Given the description of an element on the screen output the (x, y) to click on. 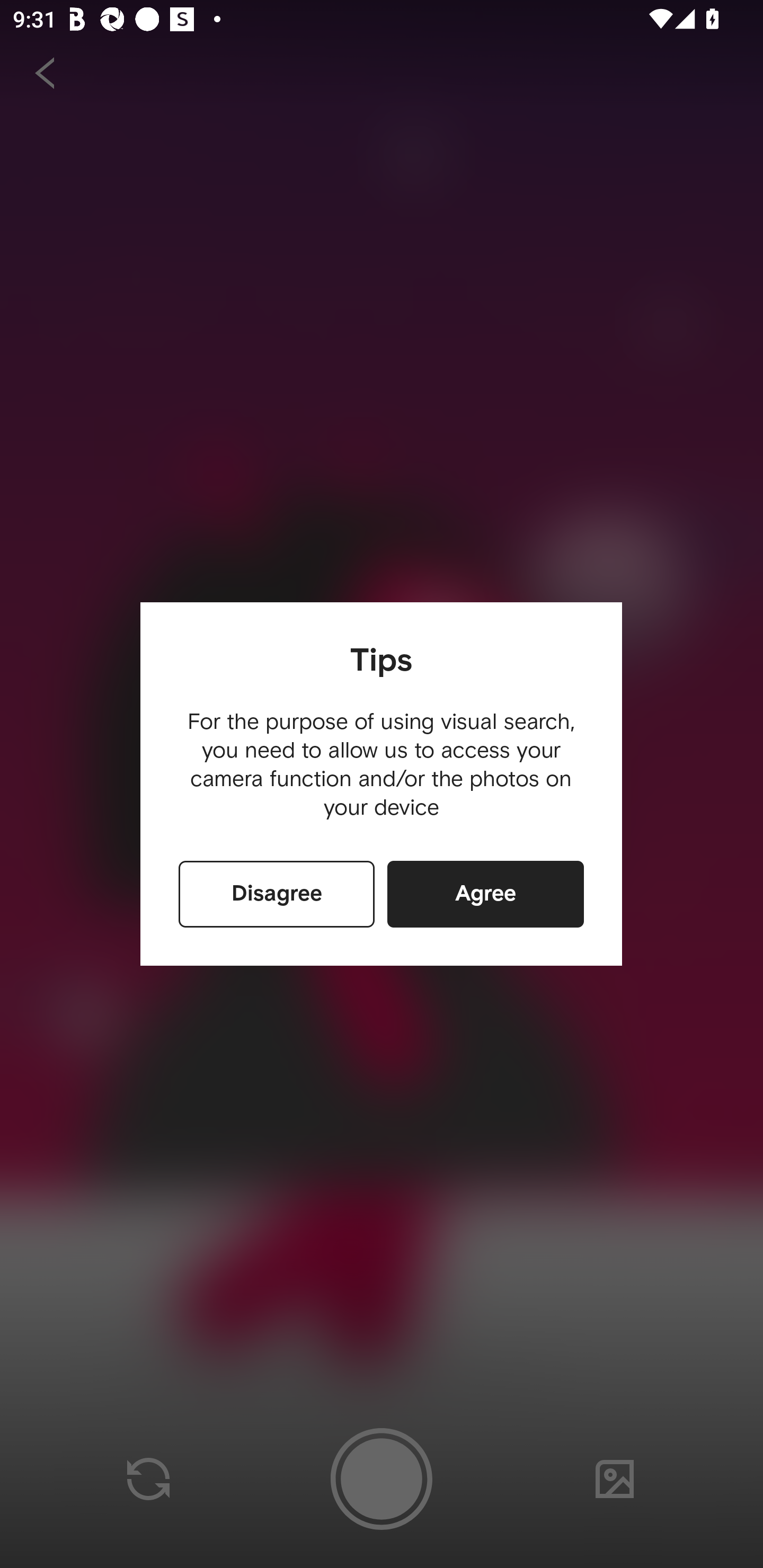
Disagree (276, 894)
Agree (485, 894)
